Given the description of an element on the screen output the (x, y) to click on. 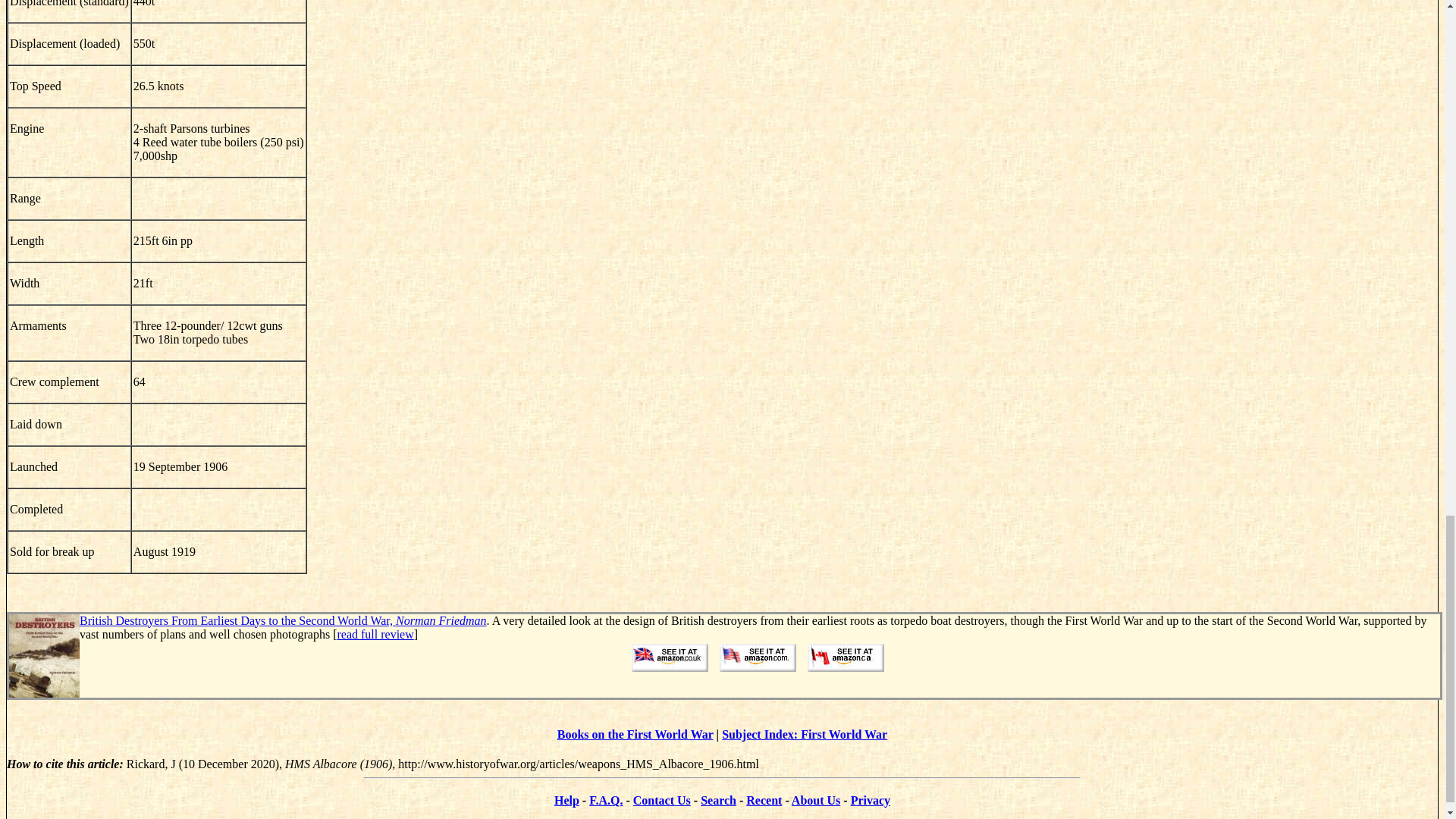
read full review (374, 634)
About Us (816, 799)
Books on the First World War (635, 734)
F.A.Q. (606, 799)
Recent (763, 799)
Contact Us (661, 799)
Search (718, 799)
Help (566, 799)
Privacy (869, 799)
Subject Index: First World War (804, 734)
